Given the description of an element on the screen output the (x, y) to click on. 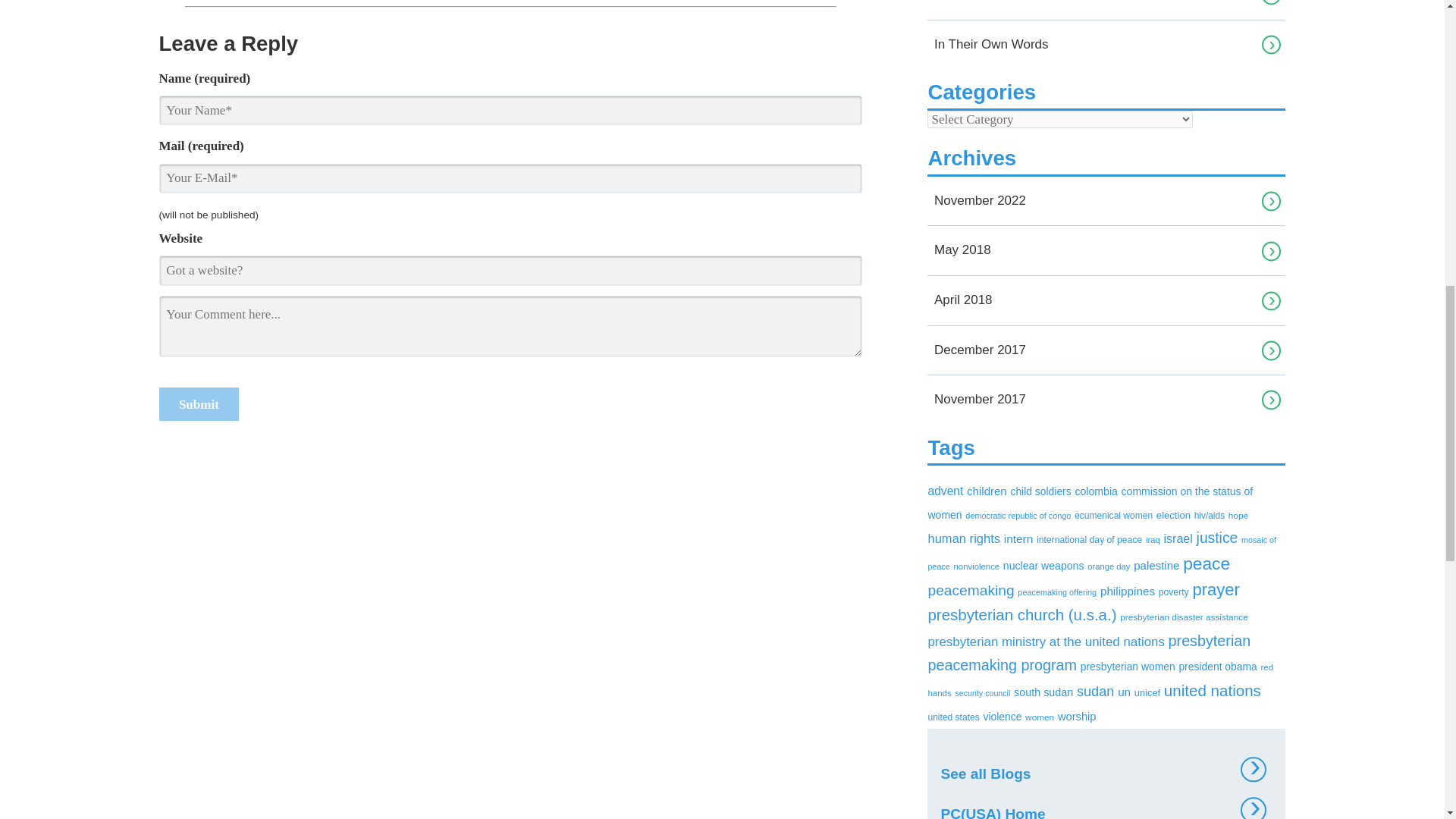
Submit (199, 403)
